Given the description of an element on the screen output the (x, y) to click on. 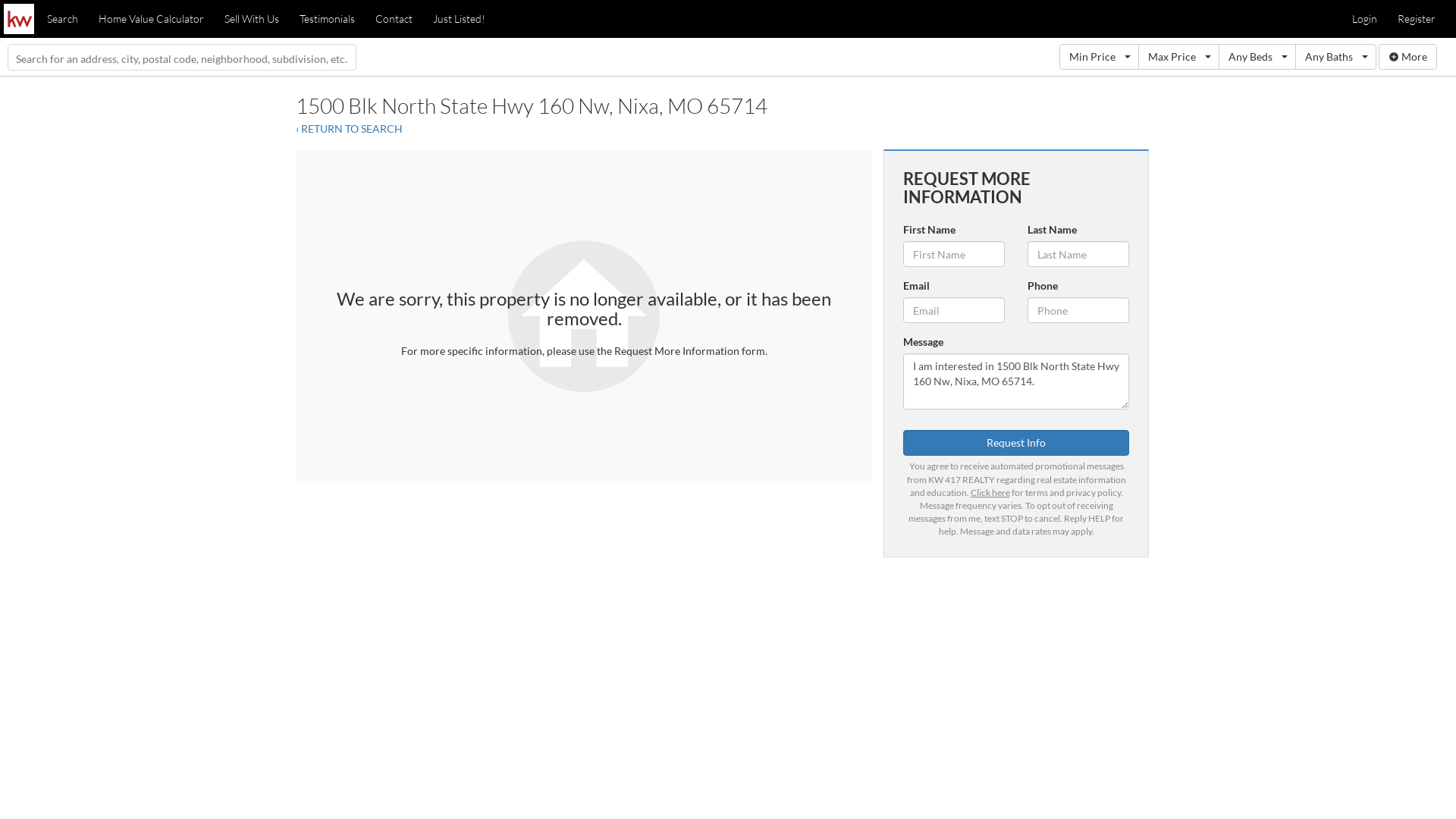
Login Element type: text (1364, 18)
Register Element type: text (1416, 18)
add_circle More Element type: text (1407, 56)
Home Value Calculator Element type: text (151, 18)
Sell With Us Element type: text (251, 18)
Any Beds Element type: text (1256, 56)
Any Baths Element type: text (1335, 56)
Click here Element type: text (990, 492)
Search Element type: text (62, 18)
Request Info Element type: text (1016, 442)
Just Listed! Element type: text (458, 18)
Max Price Element type: text (1178, 56)
Contact Element type: text (393, 18)
Testimonials Element type: text (327, 18)
Min Price Element type: text (1099, 56)
